Given the description of an element on the screen output the (x, y) to click on. 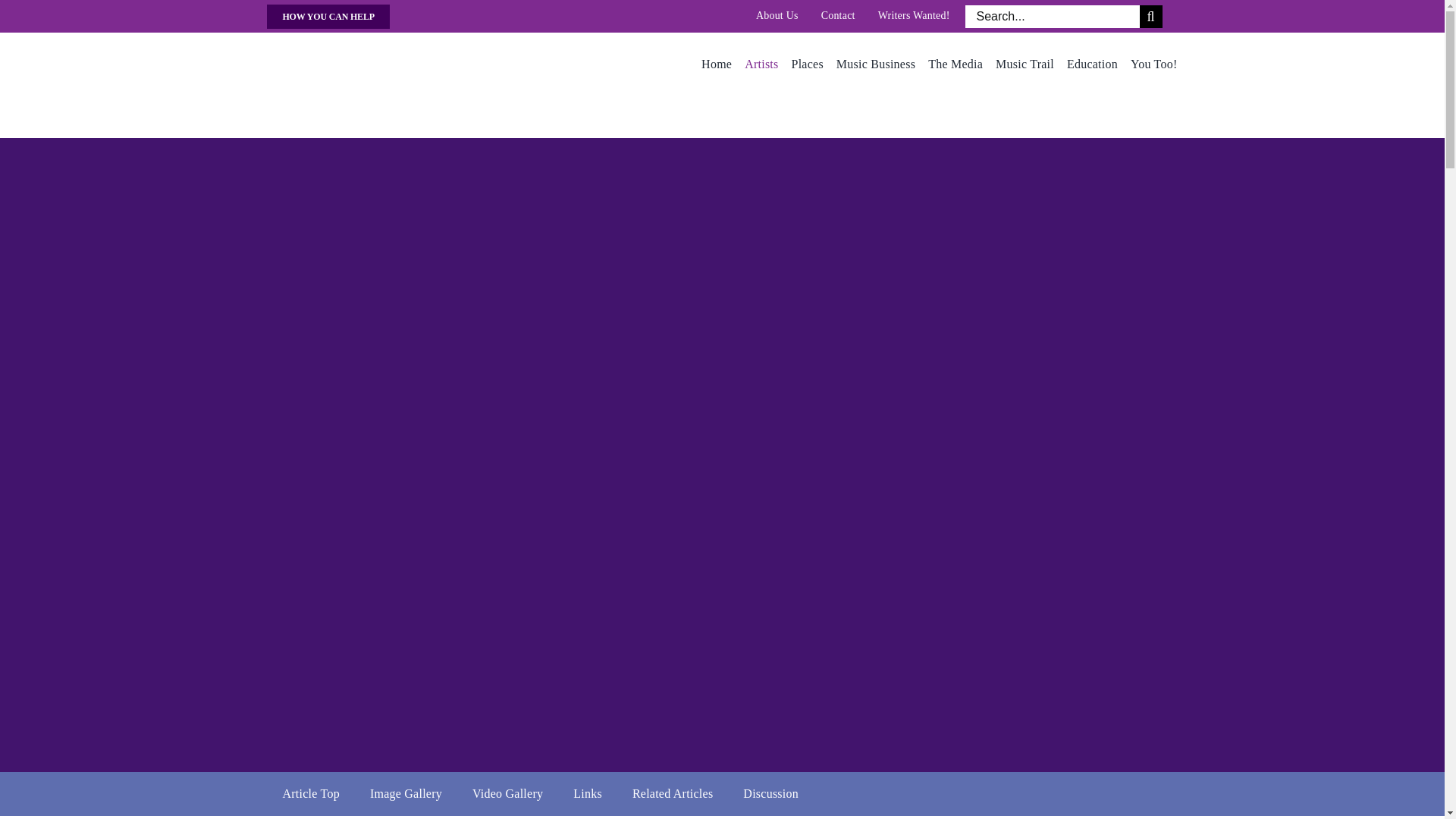
Music Business (875, 64)
About Us (776, 15)
Education (1092, 64)
Article Top (309, 793)
Music Trail (1024, 64)
Writers Wanted! (913, 15)
The Media (955, 64)
Links (587, 793)
Related Articles (672, 793)
Contact (838, 15)
